Given the description of an element on the screen output the (x, y) to click on. 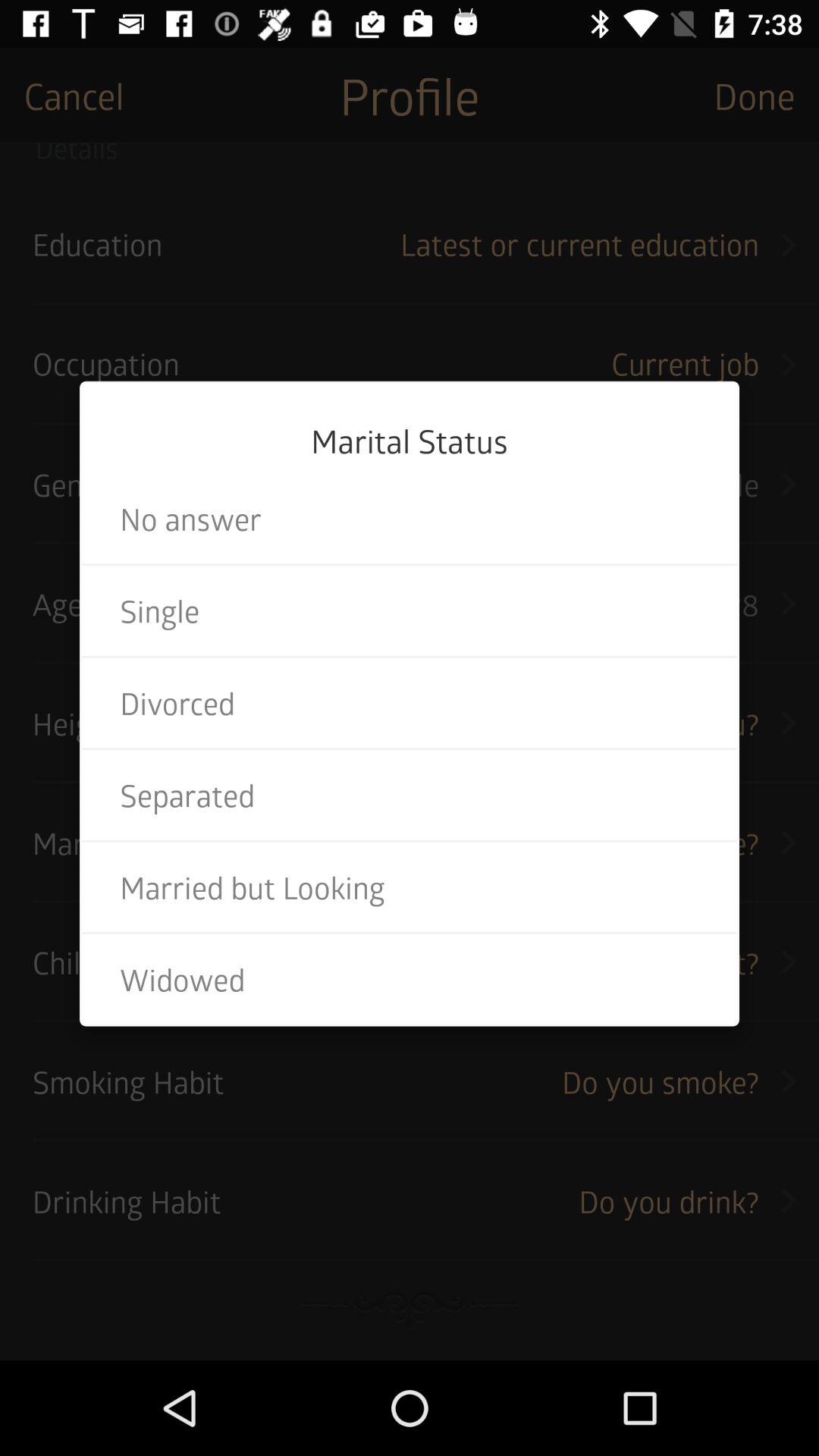
select the item below marital status item (409, 518)
